Given the description of an element on the screen output the (x, y) to click on. 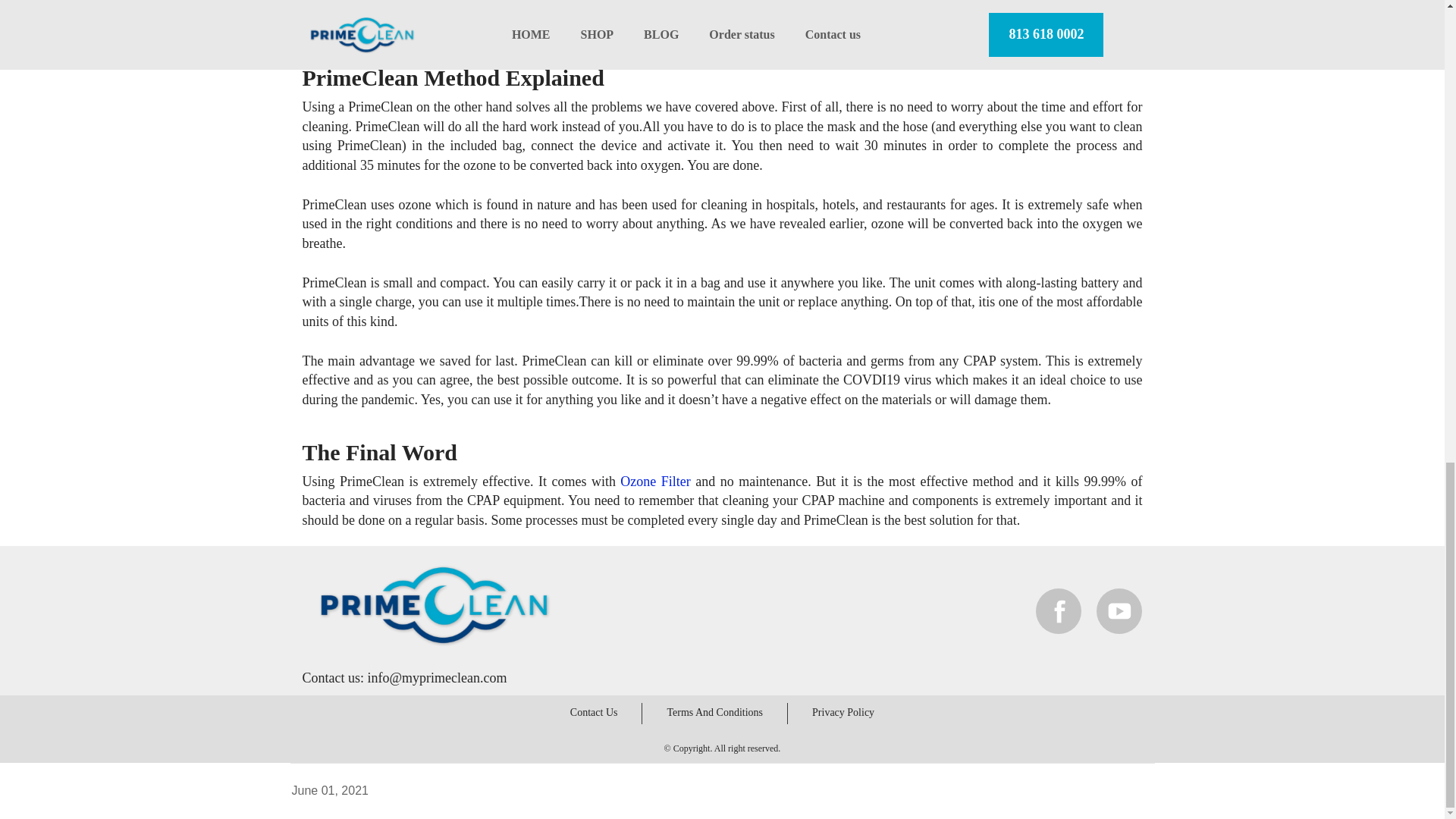
Privacy Policy (842, 712)
Social Link (1058, 610)
Social Link (1118, 610)
Ozone Filter (655, 481)
Contact Us (594, 712)
Terms And Conditions (714, 712)
PrimeClean Facebook (1058, 610)
PrimeClean Youtube channel (1118, 610)
